Given the description of an element on the screen output the (x, y) to click on. 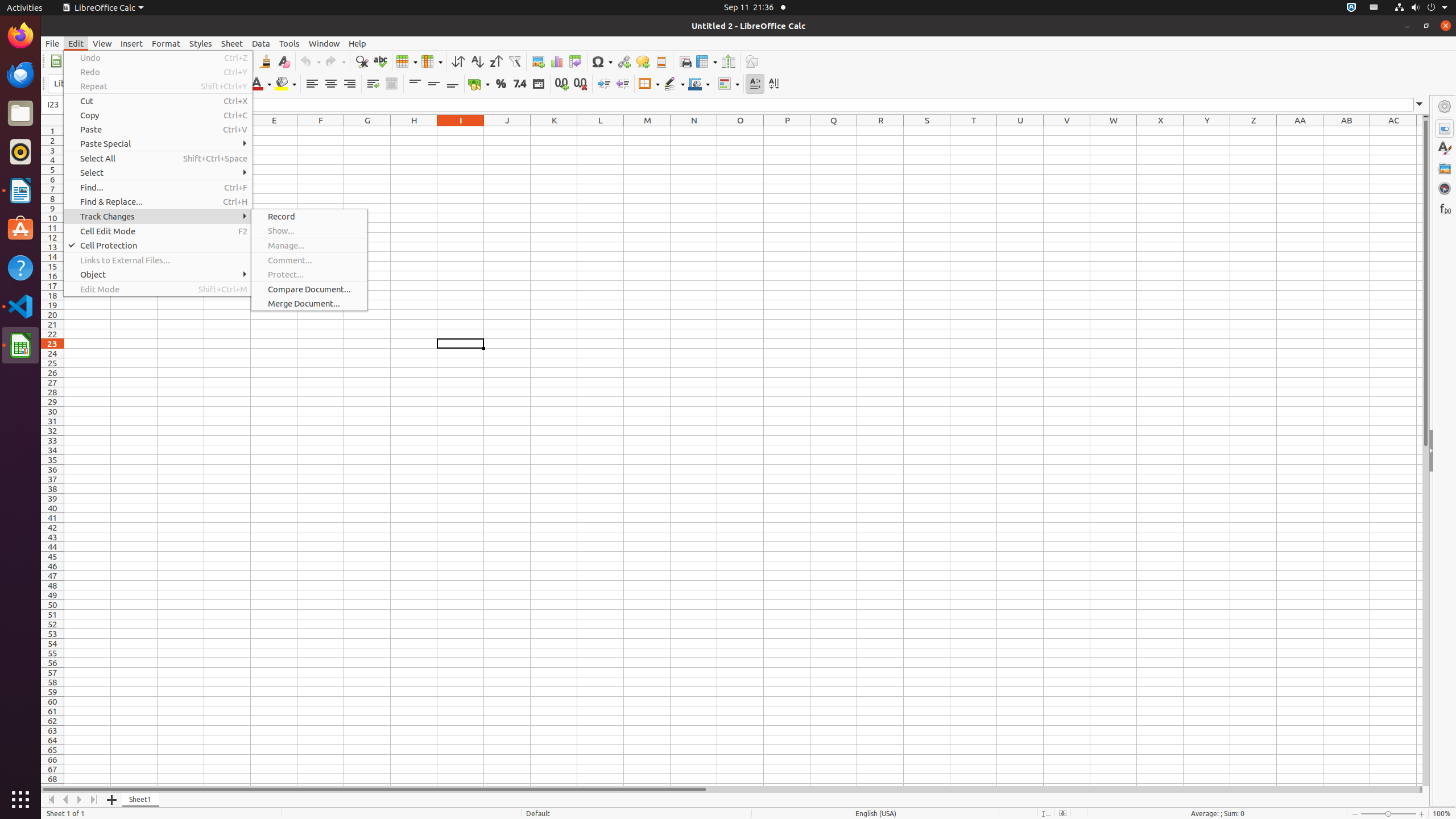
Chart Element type: push-button (556, 61)
O1 Element type: table-cell (740, 130)
Undo Element type: push-button (309, 61)
Cut Element type: menu-item (157, 100)
